Given the description of an element on the screen output the (x, y) to click on. 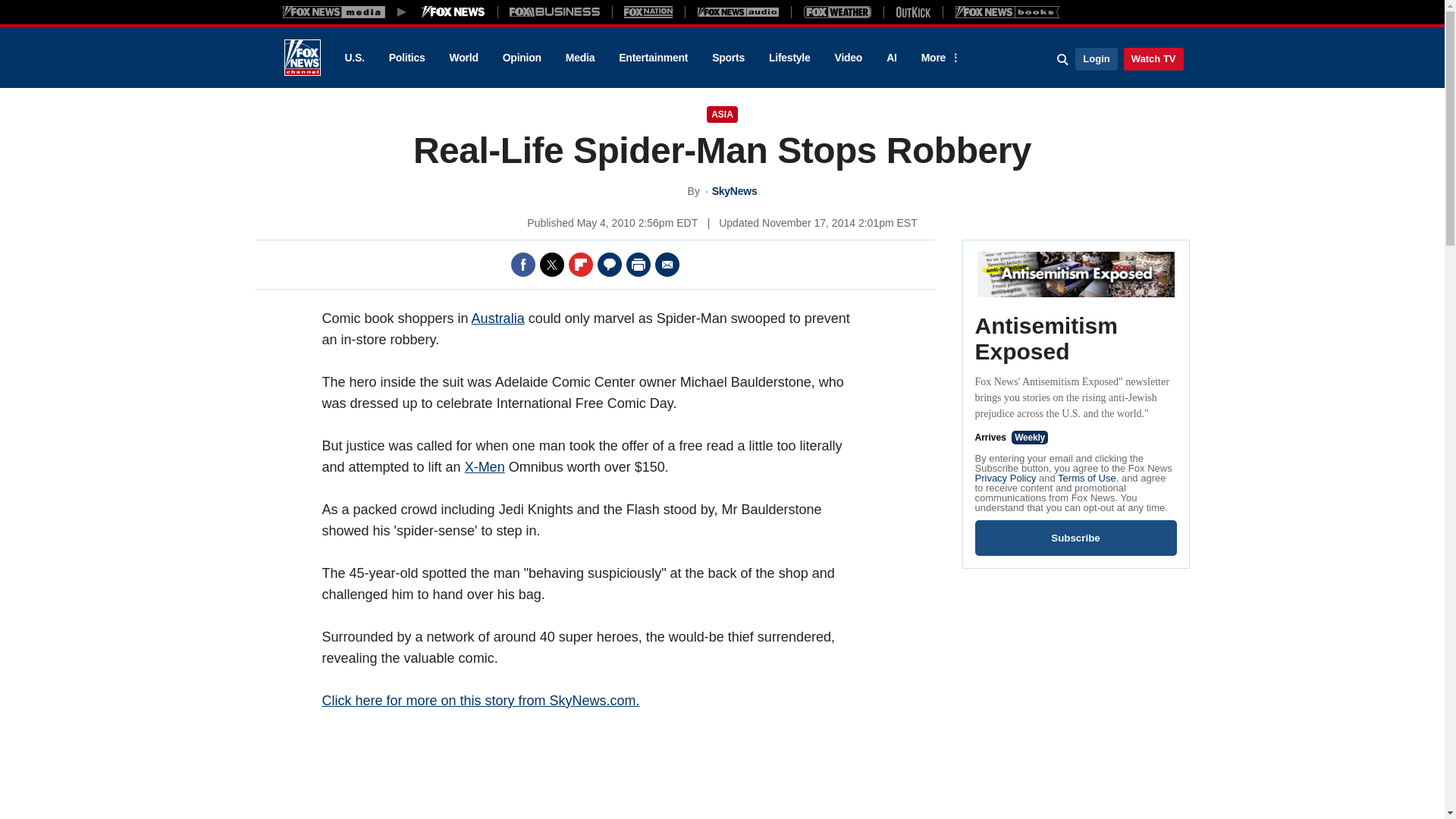
Entertainment (653, 57)
Watch TV (1153, 58)
Login (1095, 58)
U.S. (353, 57)
Fox Weather (836, 11)
Fox News Audio (737, 11)
Lifestyle (789, 57)
Video (848, 57)
More (938, 57)
Opinion (521, 57)
World (464, 57)
AI (891, 57)
Sports (728, 57)
Fox Business (554, 11)
Politics (407, 57)
